Given the description of an element on the screen output the (x, y) to click on. 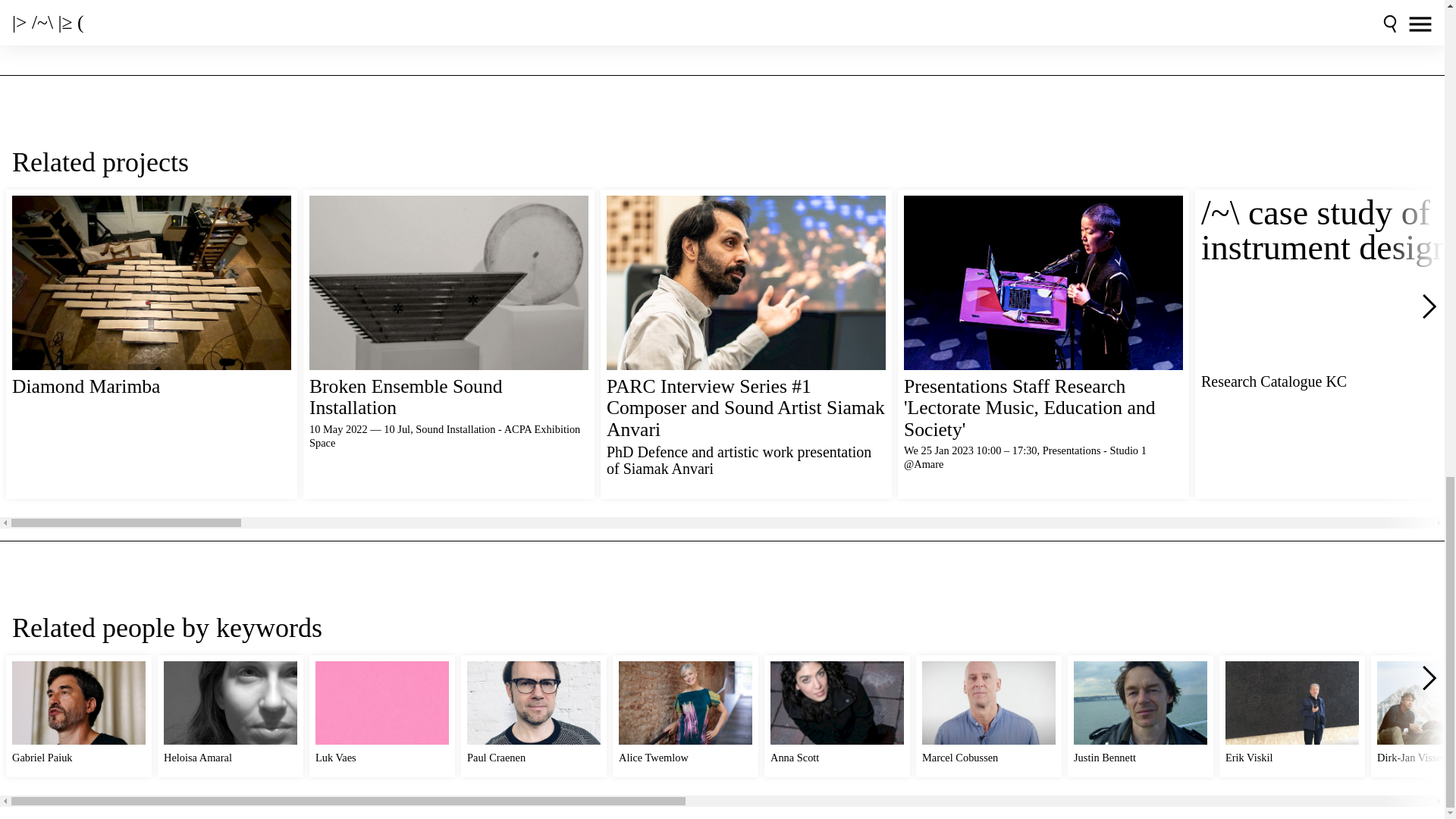
Diamond Marimba (151, 344)
